Given the description of an element on the screen output the (x, y) to click on. 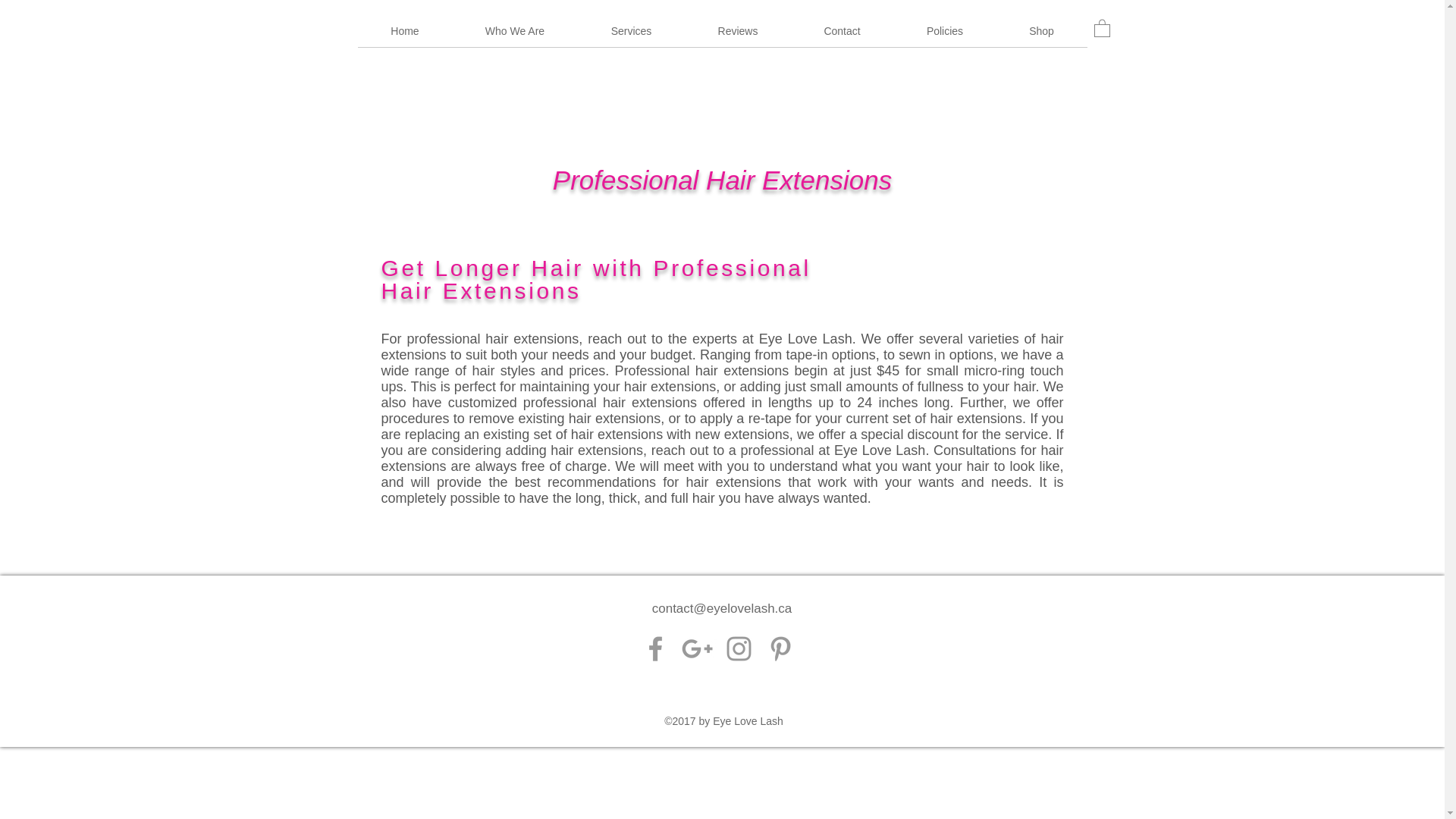
Home (405, 35)
Reviews (737, 35)
Policies (944, 35)
Who We Are (513, 35)
Shop (1041, 35)
Contact (841, 35)
